Given the description of an element on the screen output the (x, y) to click on. 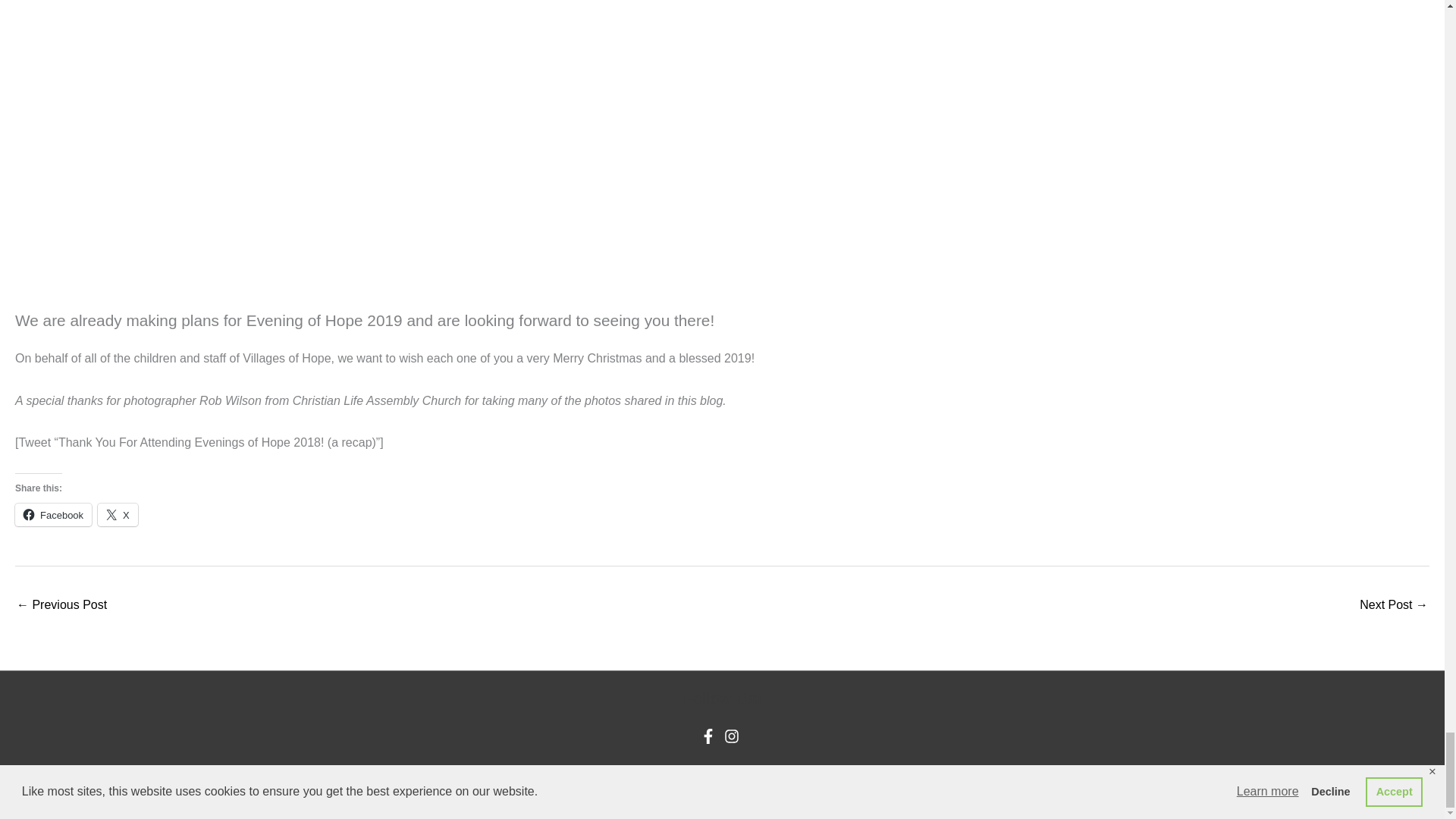
Preparing for Christmas: this week at VOH Africa (61, 605)
X (117, 514)
Click to share on Facebook (52, 514)
Facebook (52, 514)
Astra WordPress Theme (793, 769)
Click to share on X (117, 514)
Privacy Policy (906, 769)
